Given the description of an element on the screen output the (x, y) to click on. 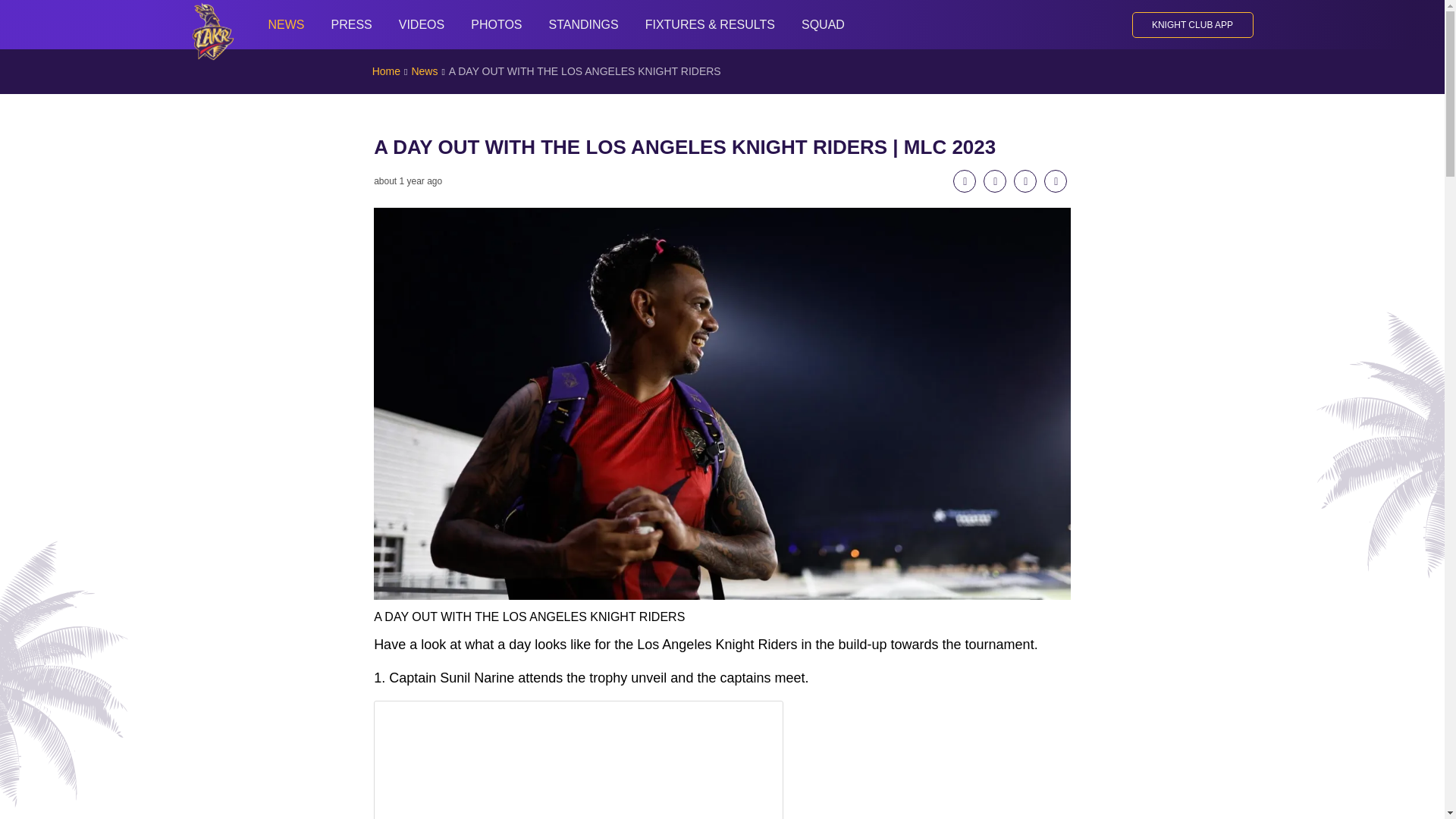
Home (386, 70)
Share on WhatsApp (1024, 180)
PHOTOS (496, 24)
PRESS (350, 24)
Press (350, 24)
Share on Facebook (964, 180)
NEWS (286, 24)
 Knight Club App (1191, 24)
News (424, 70)
News (286, 24)
Videos (421, 24)
Photos (496, 24)
Copy Link (1055, 180)
SQUAD (822, 24)
STANDINGS (583, 24)
